Given the description of an element on the screen output the (x, y) to click on. 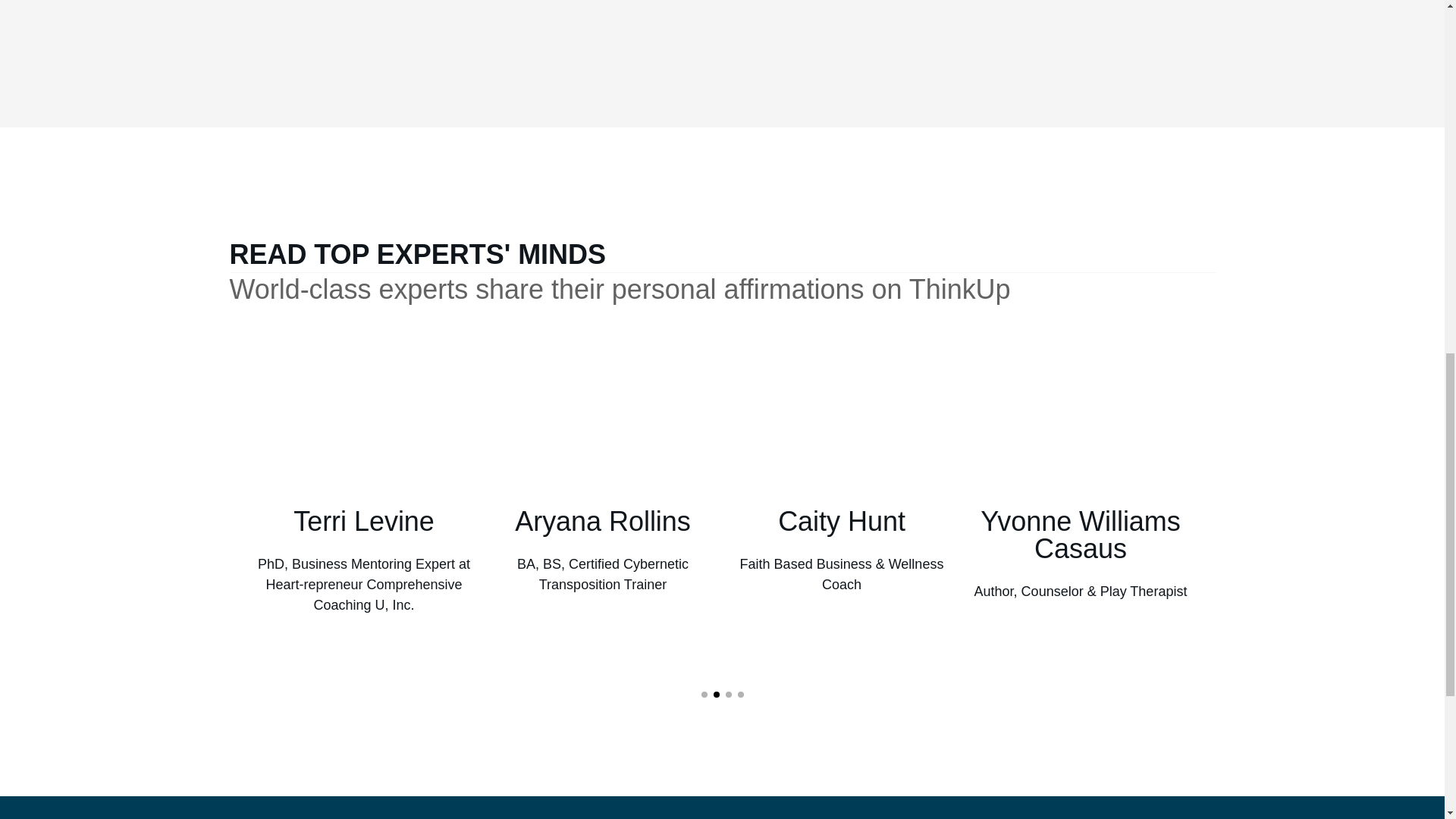
2 (716, 694)
4 (739, 694)
3 (727, 694)
1 (703, 694)
